Given the description of an element on the screen output the (x, y) to click on. 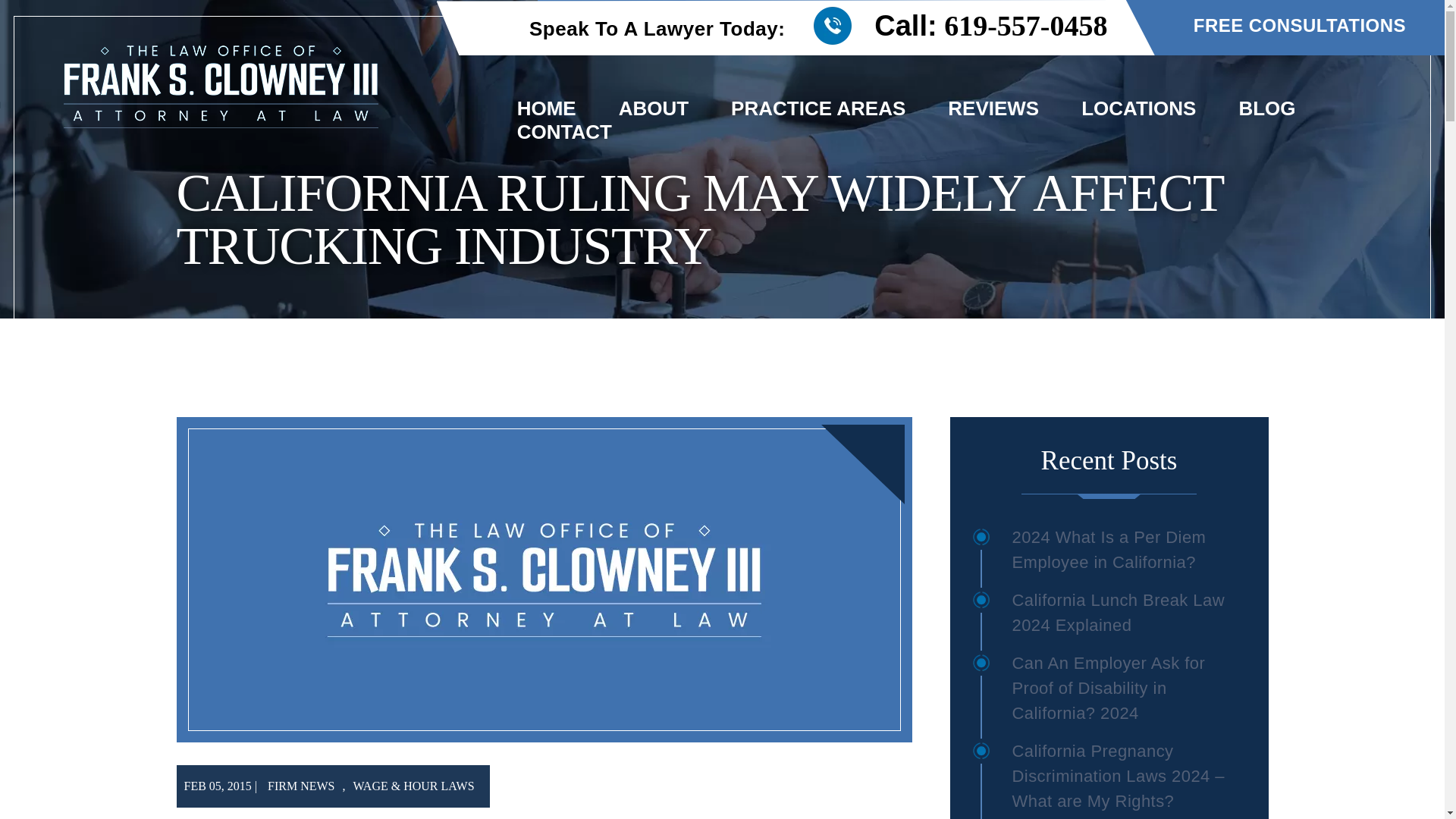
HOME (546, 108)
LOCATIONS (1138, 108)
FREE CONSULTATIONS (1299, 26)
REVIEWS (993, 108)
ABOUT (653, 108)
PRACTICE AREAS (817, 108)
Call: 619-557-0458 (948, 25)
